Given the description of an element on the screen output the (x, y) to click on. 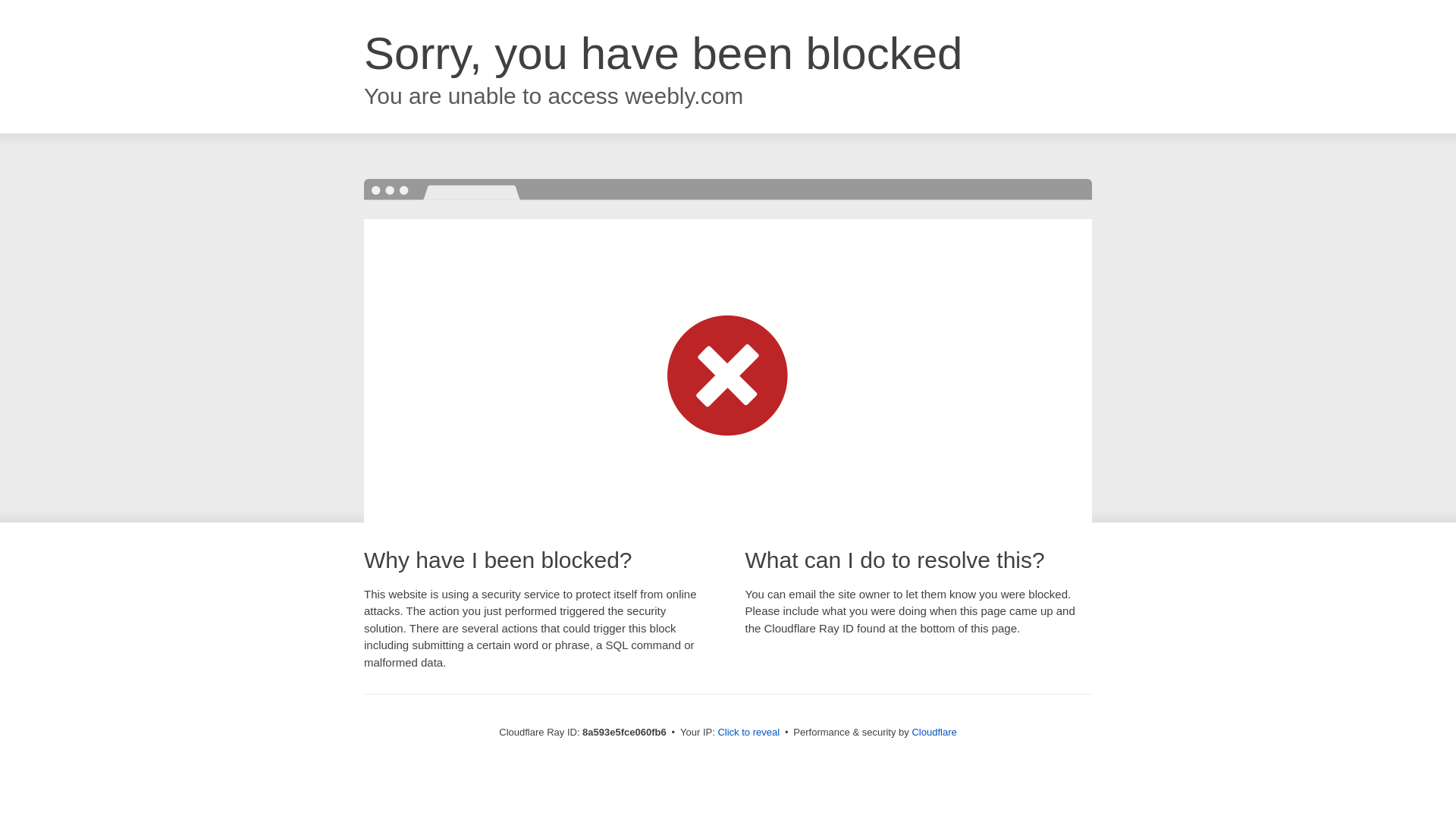
Click to reveal (747, 732)
Cloudflare (933, 731)
